Given the description of an element on the screen output the (x, y) to click on. 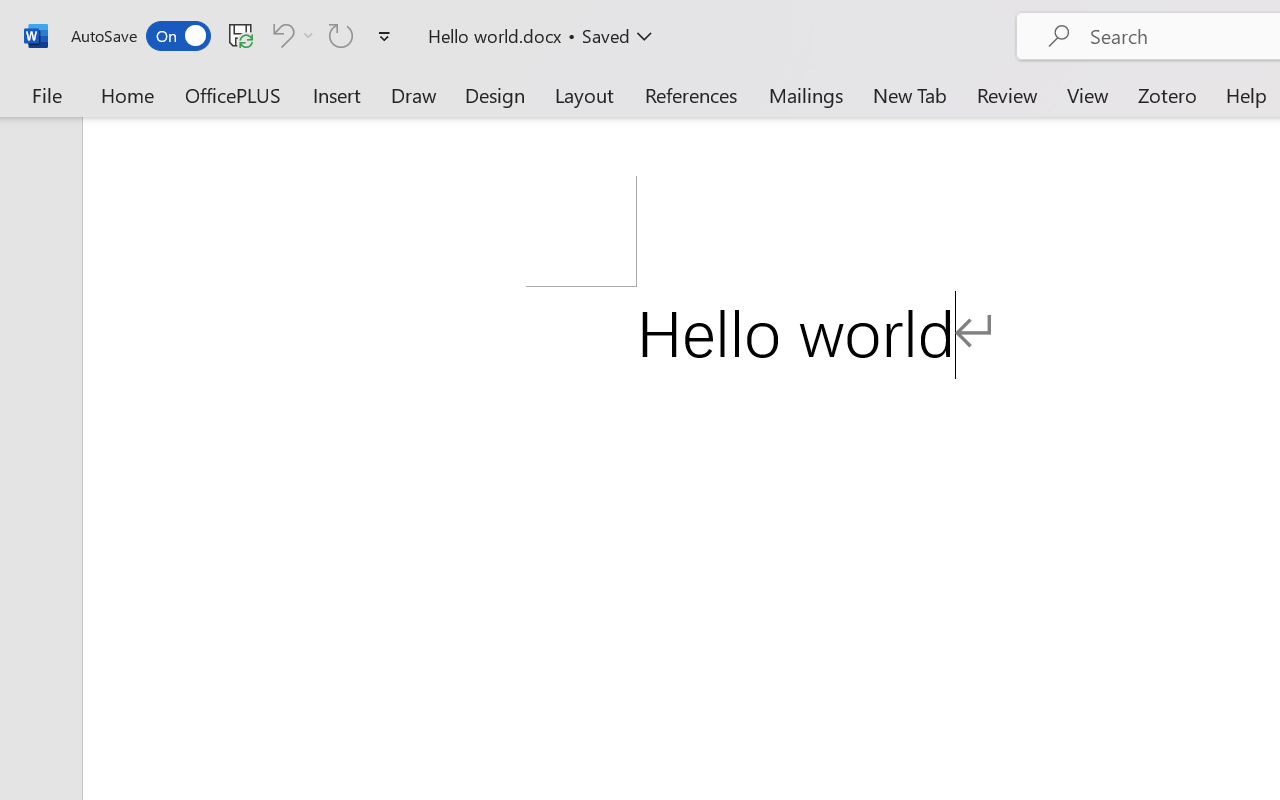
File Tab (46, 94)
Can't Undo (280, 35)
Design (495, 94)
Home (127, 94)
AutoSave (140, 35)
Mailings (806, 94)
OfficePLUS (233, 94)
Layout (584, 94)
Zotero (1166, 94)
More Options (308, 35)
Save (241, 35)
Customize Quick Access Toolbar (384, 35)
